Given the description of an element on the screen output the (x, y) to click on. 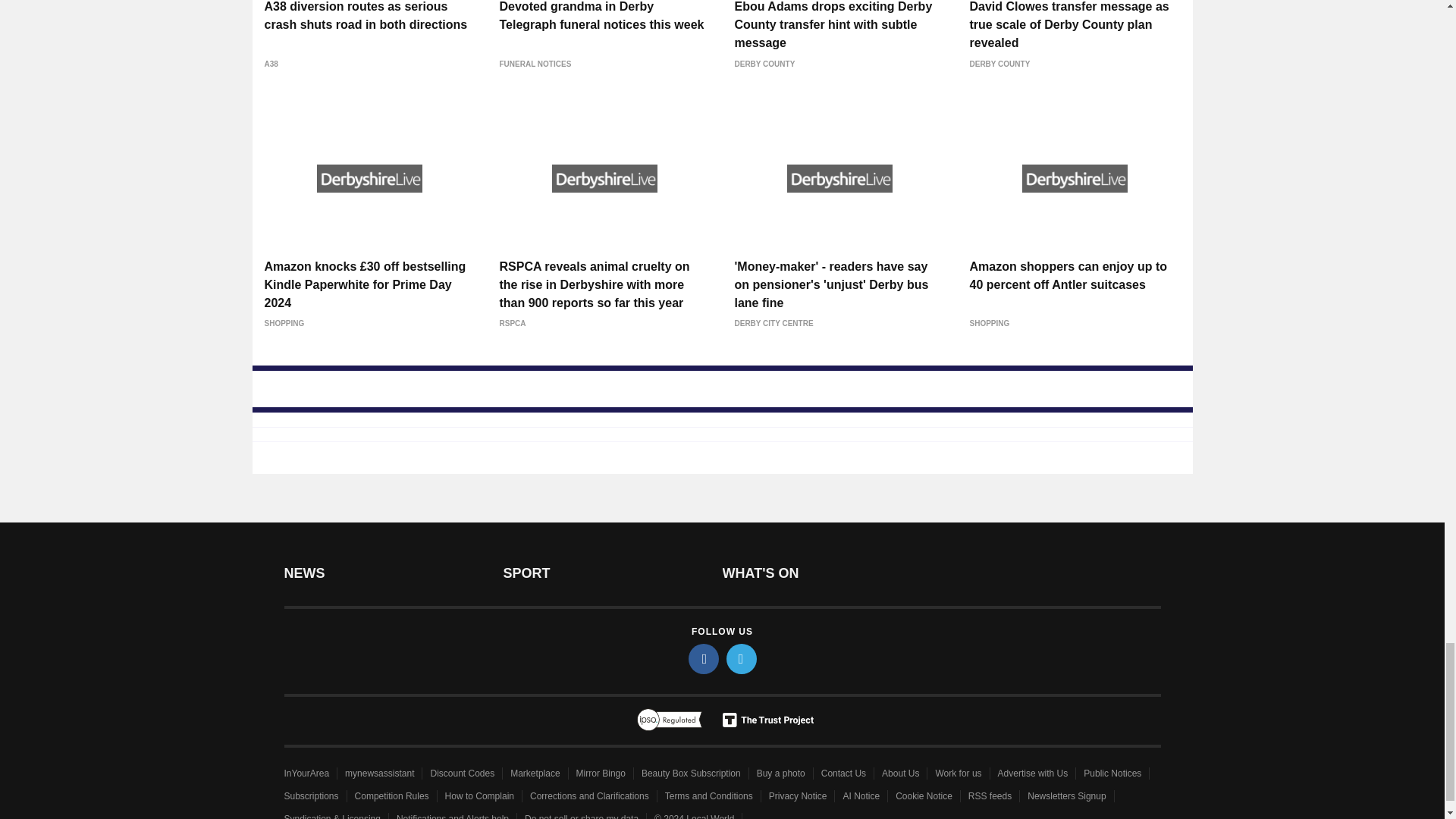
facebook (703, 658)
twitter (741, 658)
